Given the description of an element on the screen output the (x, y) to click on. 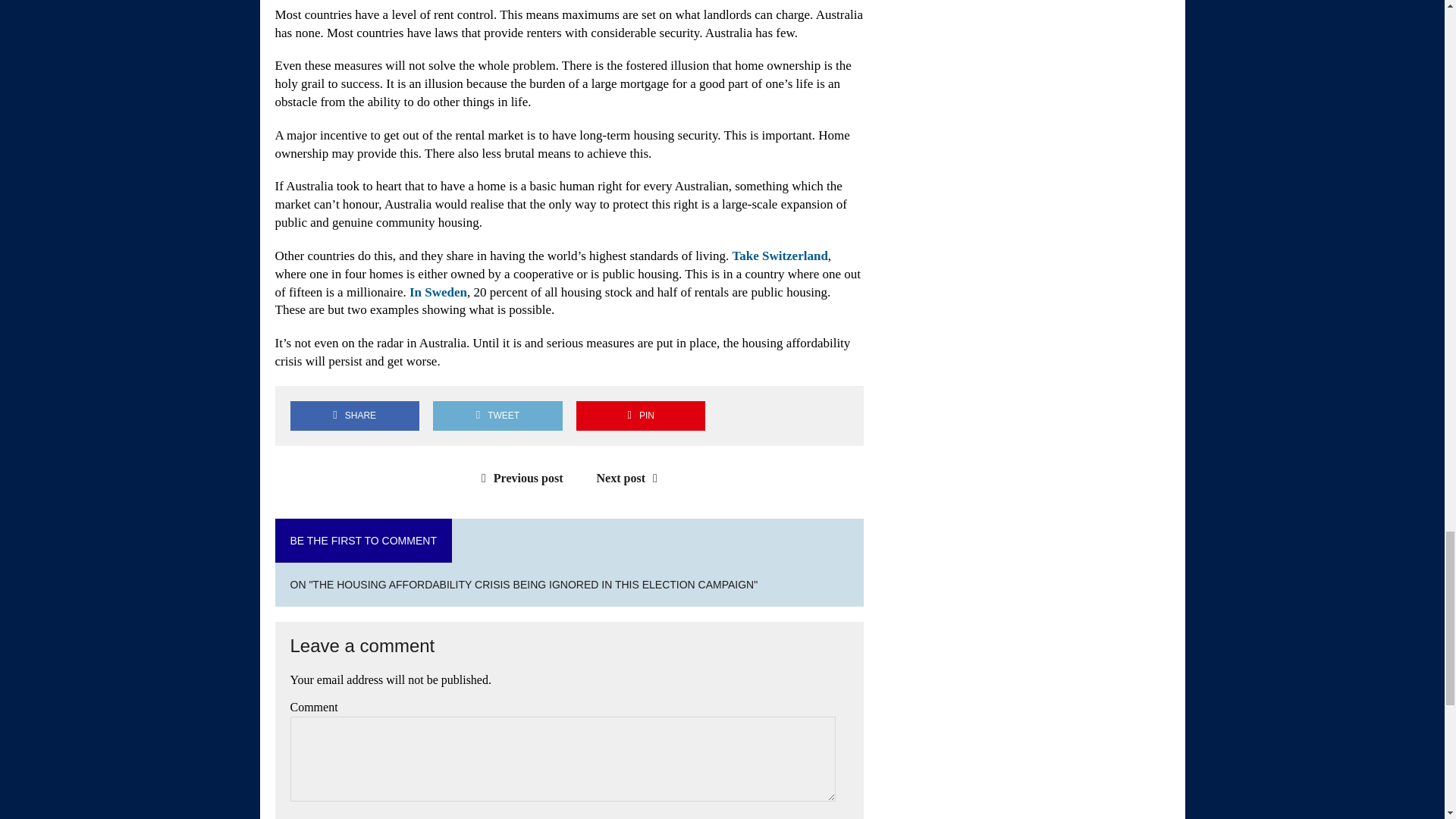
In Sweden (438, 292)
Share on Facebook (354, 415)
Next post (630, 477)
PIN (640, 415)
Previous post (518, 477)
Tweet This Post (497, 415)
SHARE (354, 415)
Take Switzerland (779, 255)
TWEET (497, 415)
Pin This Post (640, 415)
